Given the description of an element on the screen output the (x, y) to click on. 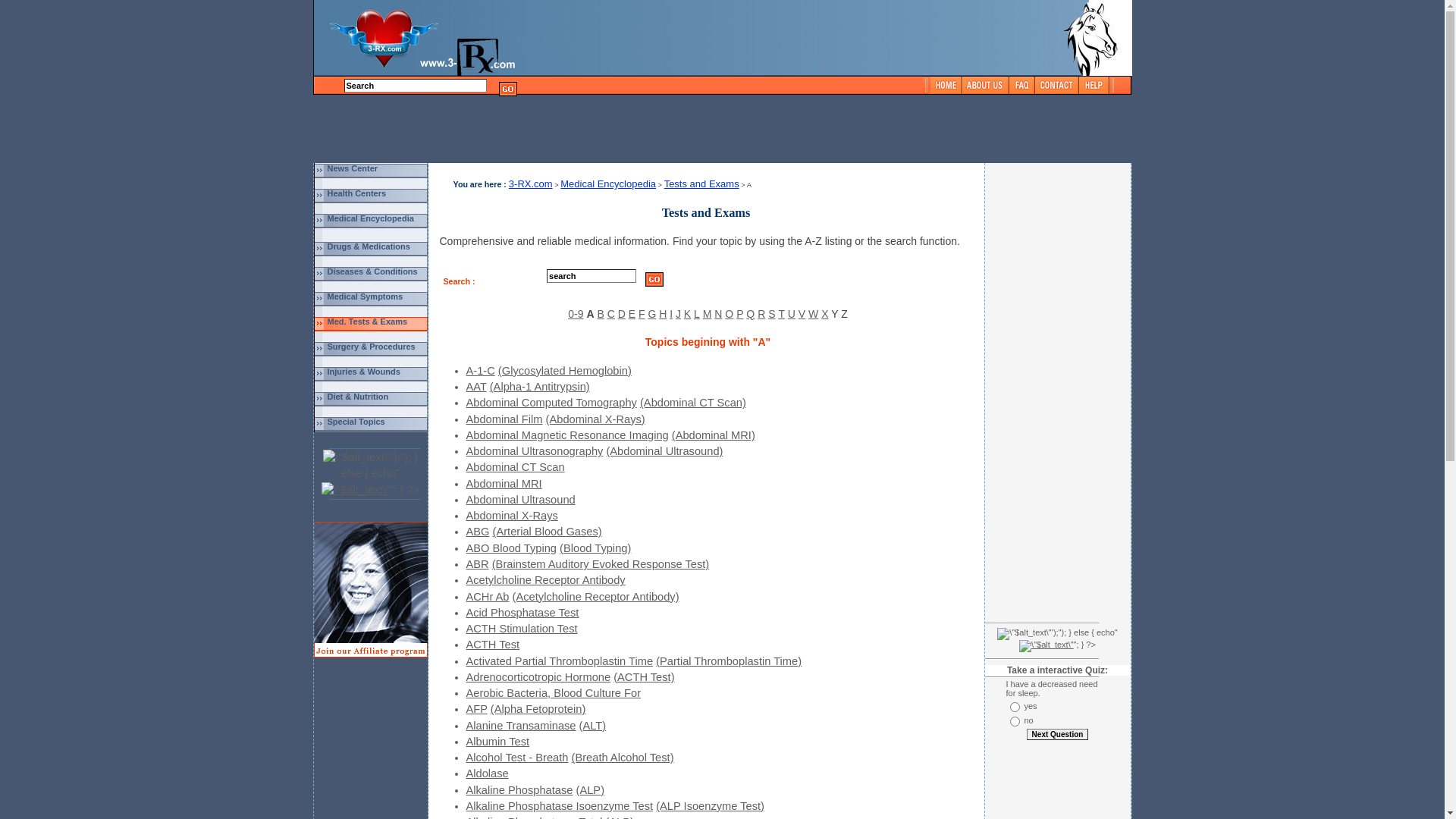
3-RX.com Element type: text (530, 183)
Aerobic Bacteria, Blood Culture For Element type: text (552, 693)
E Element type: text (631, 313)
L Element type: text (696, 313)
Injuries & Wounds Element type: text (363, 371)
Health Centers Element type: text (356, 192)
Abdominal Ultrasound Element type: text (519, 499)
S Element type: text (771, 313)
Adrenocorticotropic Hormone Element type: text (537, 677)
Acetylcholine Receptor Antibody Element type: text (544, 580)
Medical Symptoms Element type: text (365, 296)
Q Element type: text (750, 313)
(ALP) Element type: text (590, 790)
Surgery & Procedures Element type: text (371, 346)
Advertisement Element type: hover (1056, 390)
ACHr Ab Element type: text (486, 595)
(Alpha Fetoprotein) Element type: text (537, 708)
(ALT) Element type: text (592, 725)
(Partial Thromboplastin Time) Element type: text (728, 661)
Abdominal CT Scan Element type: text (514, 467)
(ALP Isoenzyme Test) Element type: text (709, 806)
I Element type: text (670, 313)
P Element type: text (739, 313)
V Element type: text (801, 313)
J Element type: text (677, 313)
Abdominal X-Rays Element type: text (511, 515)
N Element type: text (717, 313)
W Element type: text (813, 313)
(ACTH Test) Element type: text (643, 677)
(Abdominal Ultrasound) Element type: text (663, 451)
Albumin Test Element type: text (497, 741)
R Element type: text (761, 313)
Med. Tests & Exams Element type: text (367, 321)
M Element type: text (707, 313)
Medical Encyclopedia Element type: text (370, 217)
Drugs & Medications Element type: text (368, 246)
F Element type: text (641, 313)
Alkaline Phosphatase Element type: text (518, 790)
Abdominal Computed Tomography Element type: text (550, 402)
Abdominal Ultrasonography Element type: text (533, 451)
Special Topics Element type: text (356, 421)
ABG Element type: text (477, 531)
ACTH Test Element type: text (492, 644)
(Alpha-1 Antitrypsin) Element type: text (539, 386)
X Element type: text (824, 313)
ACTH Stimulation Test Element type: text (521, 628)
Aldolase Element type: text (486, 773)
O Element type: text (728, 313)
Tests and Exams Element type: text (701, 183)
AFP Element type: text (475, 708)
(Abdominal CT Scan) Element type: text (693, 402)
(Breath Alcohol Test) Element type: text (622, 757)
Medical Encyclopedia Element type: text (607, 183)
(Brainstem Auditory Evoked Response Test) Element type: text (600, 564)
Abdominal Film Element type: text (503, 419)
(Glycosylated Hemoglobin) Element type: text (564, 370)
0-9 Element type: text (575, 313)
Activated Partial Thromboplastin Time Element type: text (558, 661)
K Element type: text (687, 313)
AAT Element type: text (475, 386)
(Blood Typing) Element type: text (594, 548)
Abdominal Magnetic Resonance Imaging Element type: text (566, 435)
Acid Phosphatase Test Element type: text (521, 612)
(Abdominal MRI) Element type: text (713, 435)
Next Question Element type: text (1057, 734)
Alkaline Phosphatase Isoenzyme Test Element type: text (558, 806)
ABO Blood Typing Element type: text (510, 548)
D Element type: text (621, 313)
T Element type: text (781, 313)
Diet & Nutrition Element type: text (358, 396)
Alanine Transaminase Element type: text (520, 725)
ABR Element type: text (476, 564)
U Element type: text (791, 313)
Alcohol Test - Breath Element type: text (516, 757)
News Center Element type: text (352, 167)
B Element type: text (599, 313)
Abdominal MRI Element type: text (503, 483)
Diseases & Conditions Element type: text (372, 271)
H Element type: text (662, 313)
Advertisement Element type: hover (711, 130)
A-1-C Element type: text (479, 370)
(Acetylcholine Receptor Antibody) Element type: text (595, 595)
(Abdominal X-Rays) Element type: text (595, 419)
C Element type: text (611, 313)
(Arterial Blood Gases) Element type: text (547, 531)
G Element type: text (651, 313)
